Given the description of an element on the screen output the (x, y) to click on. 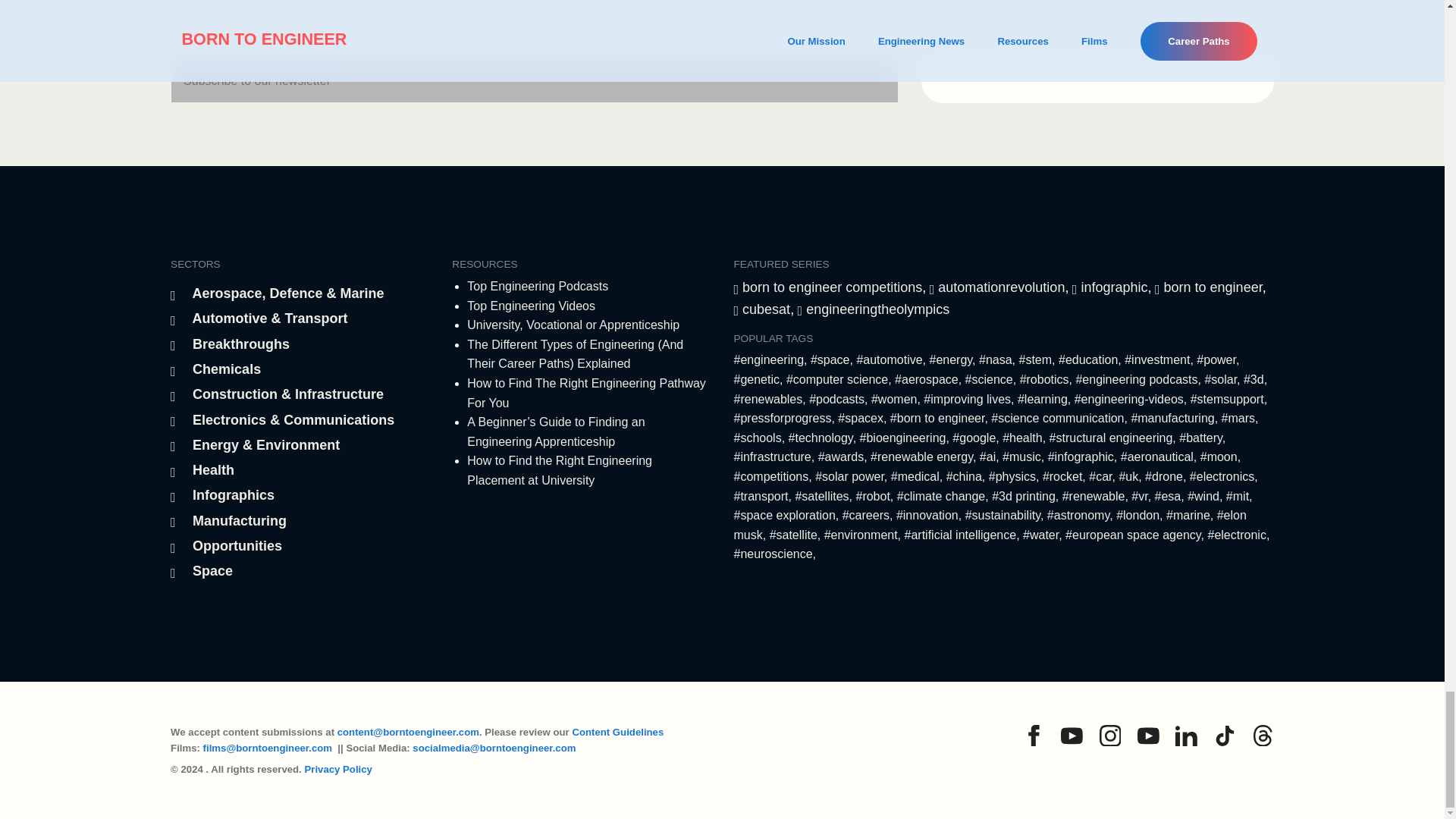
Subscribe (1097, 80)
